Given the description of an element on the screen output the (x, y) to click on. 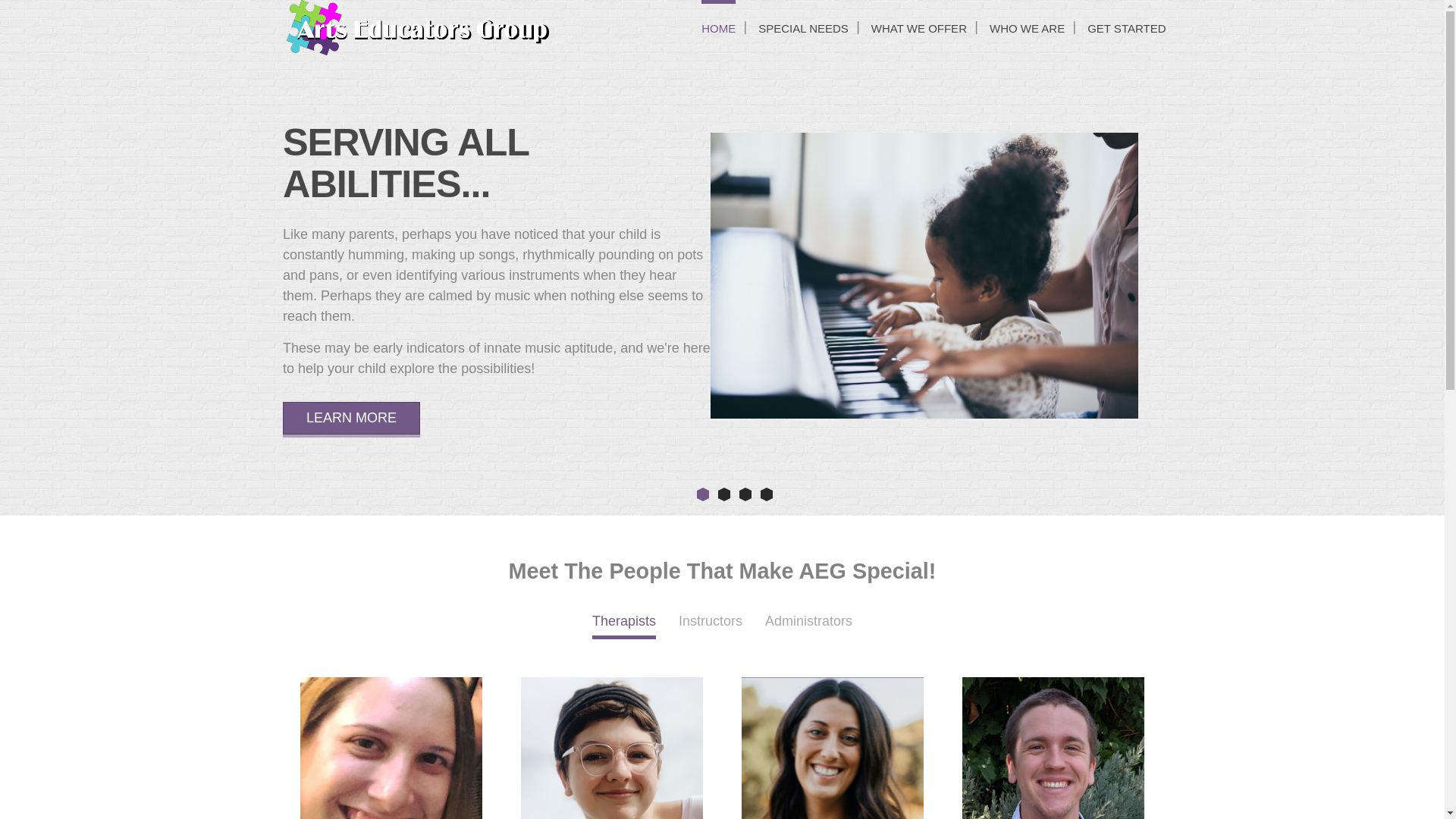
HOME (718, 28)
